Given the description of an element on the screen output the (x, y) to click on. 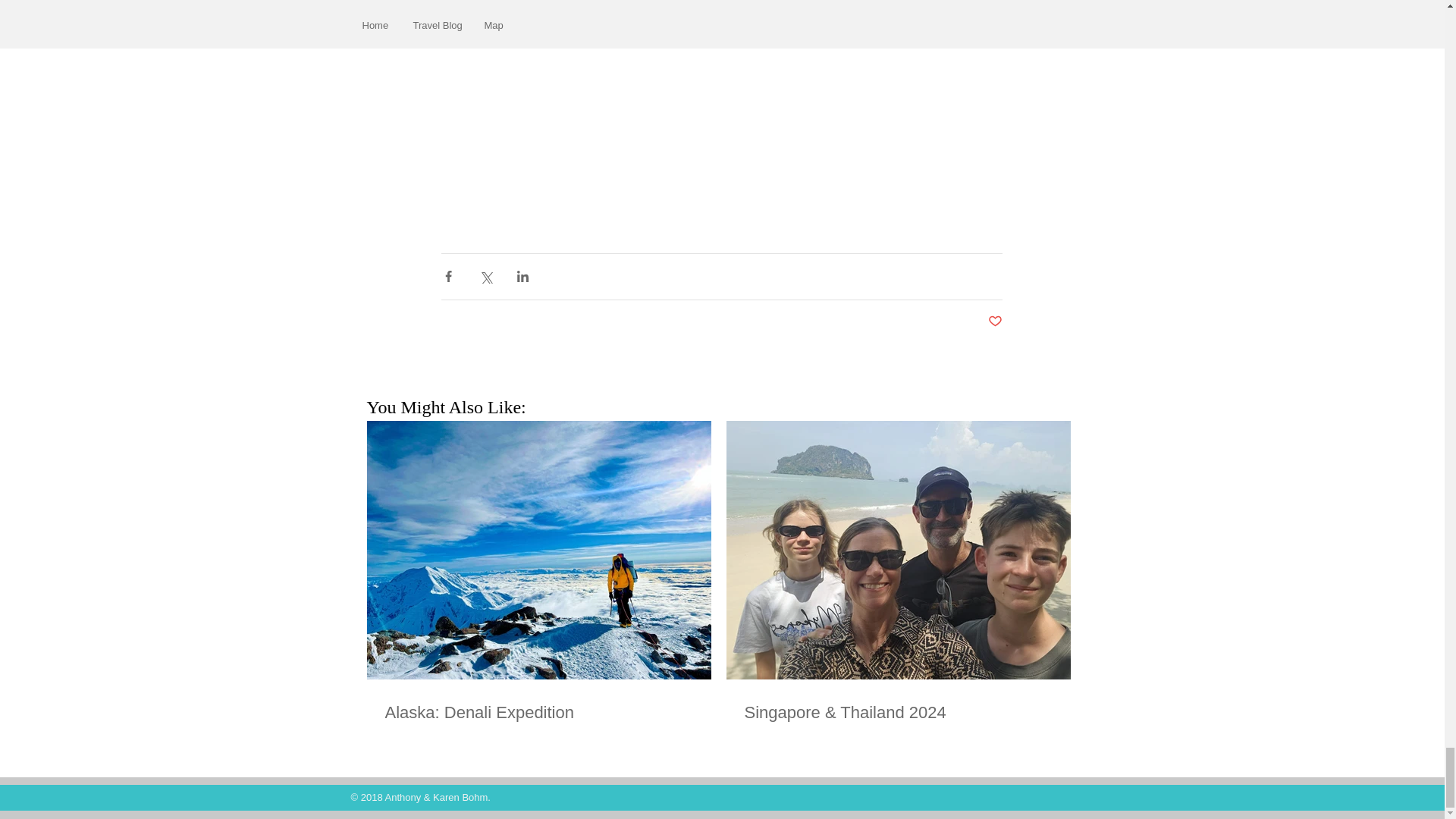
Alaska: Denali Expedition (539, 712)
Post not marked as liked (994, 320)
